Given the description of an element on the screen output the (x, y) to click on. 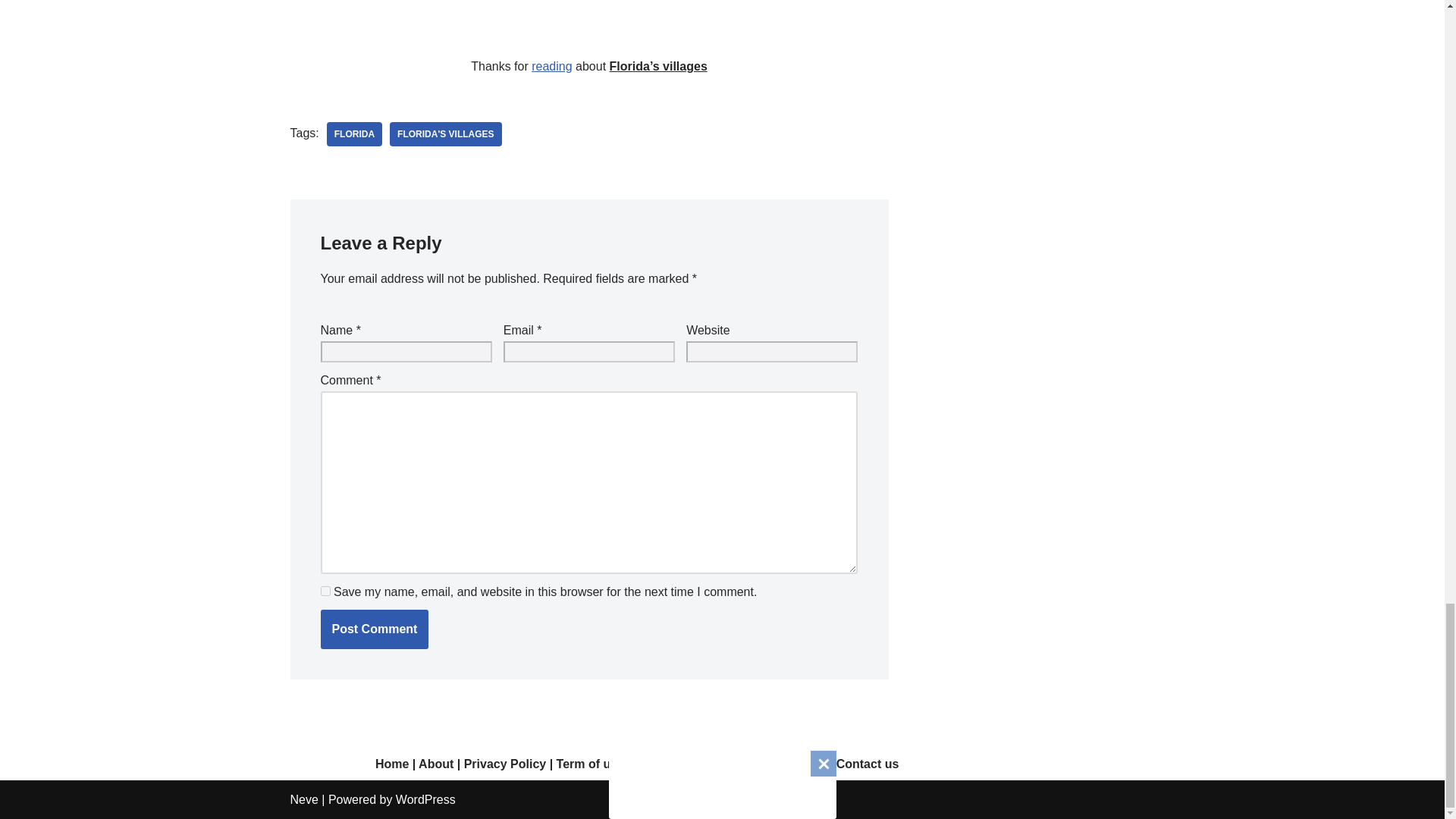
Florida (353, 134)
Florida's villages (446, 134)
yes (325, 591)
Post Comment (374, 629)
